Given the description of an element on the screen output the (x, y) to click on. 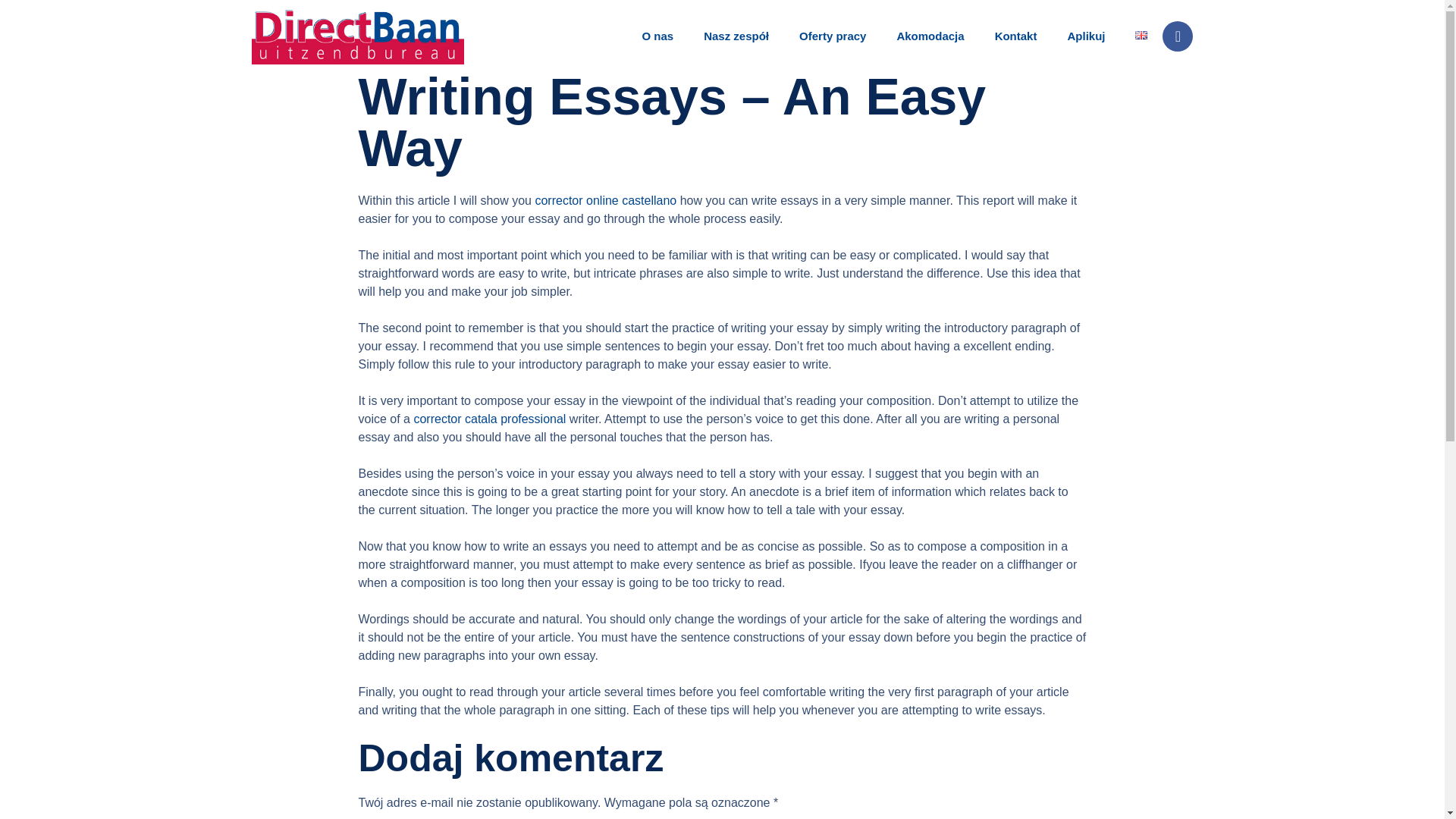
O nas (657, 36)
Oferty pracy (832, 36)
corrector catala professional (489, 418)
Aplikuj (1086, 36)
corrector online castellano (605, 200)
Kontakt (1015, 36)
Akomodacja (929, 36)
